Given the description of an element on the screen output the (x, y) to click on. 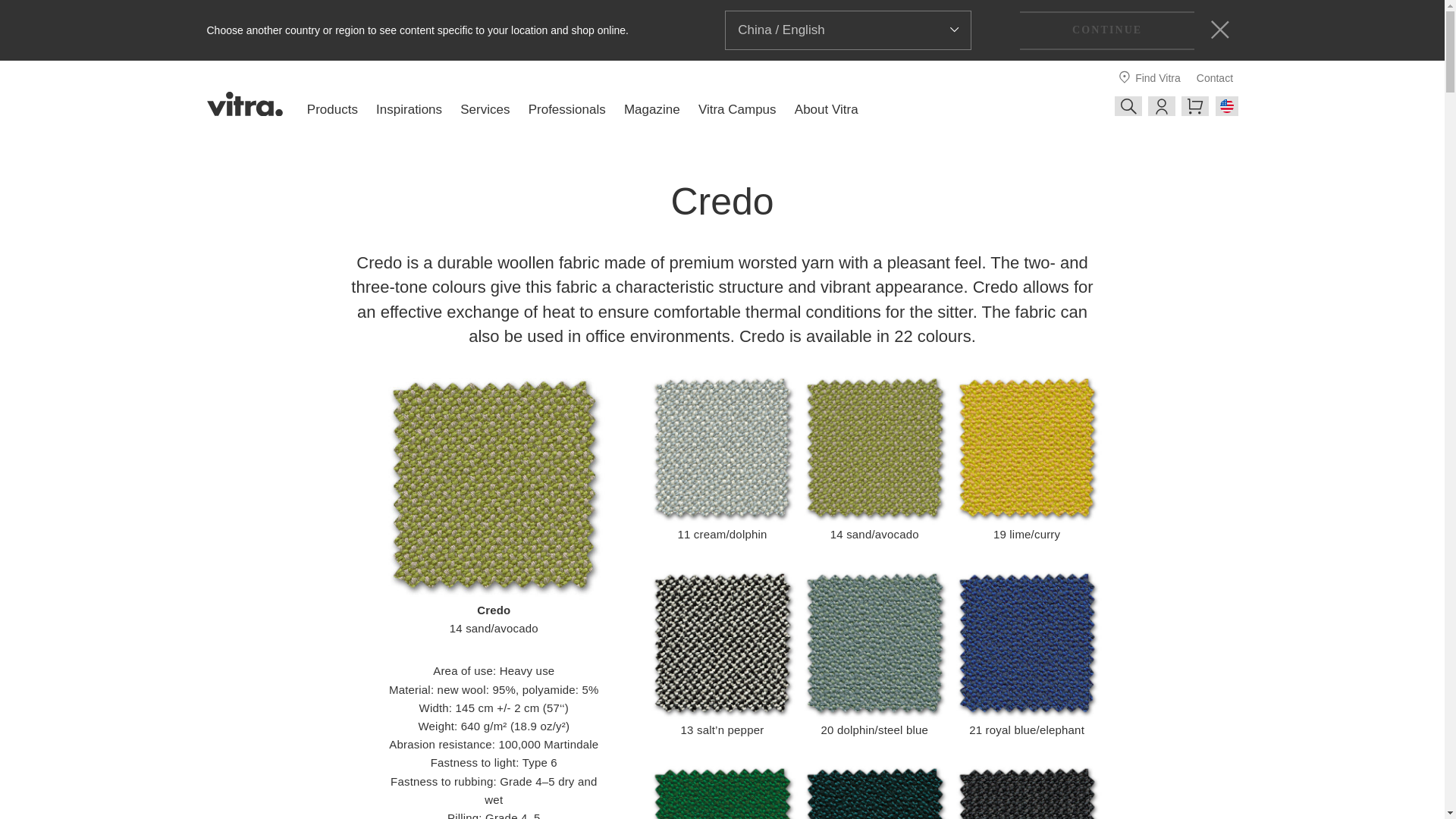
Professionals (566, 109)
Vitra Campus (737, 109)
Inspirations (408, 109)
CONTINUE (1106, 30)
Products (332, 109)
Vitra (244, 104)
Services (484, 109)
Magazine (651, 109)
SKIP TO CONTENT (42, 9)
About Vitra (826, 109)
